Given the description of an element on the screen output the (x, y) to click on. 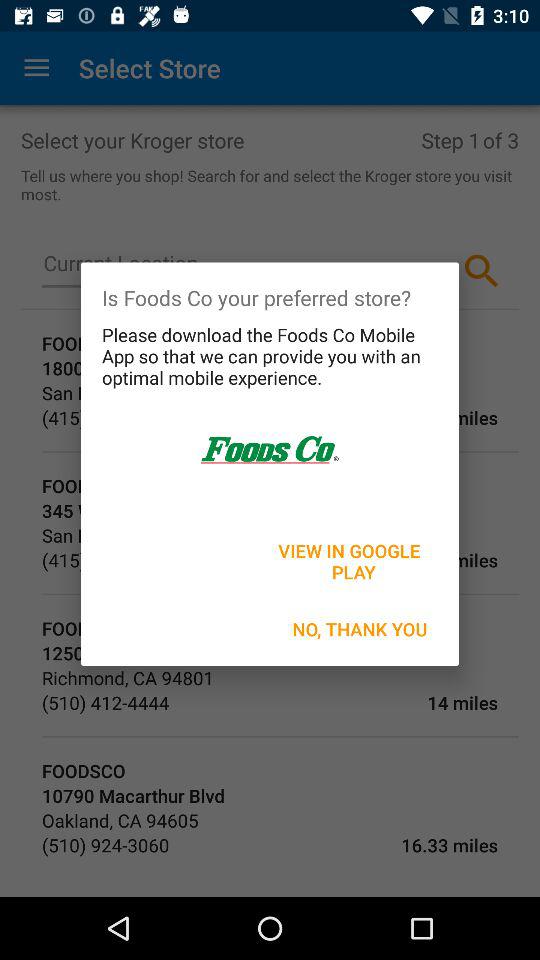
jump to the no, thank you item (359, 628)
